Given the description of an element on the screen output the (x, y) to click on. 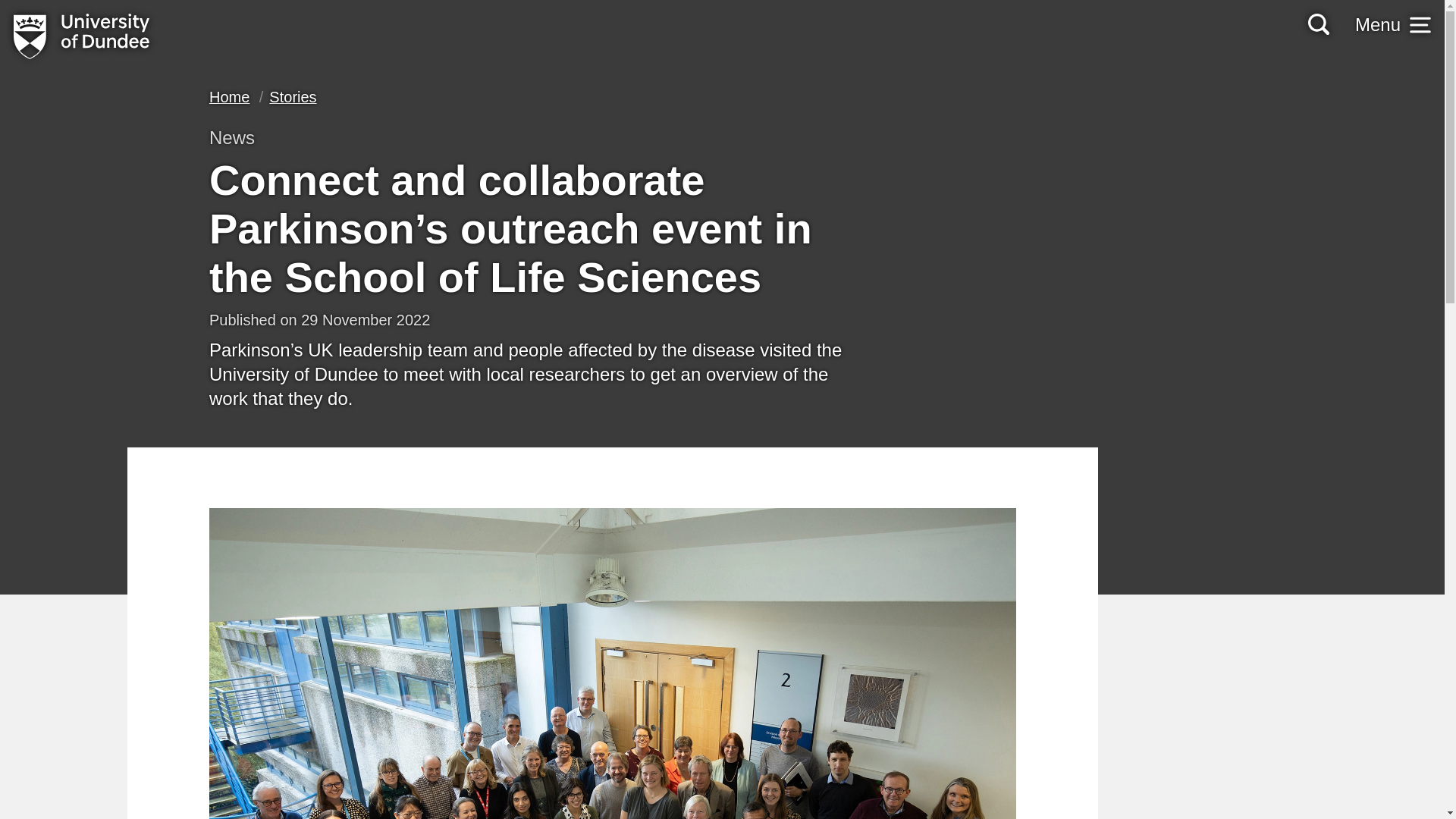
Menu (1393, 24)
University of Dundee (81, 35)
